Given the description of an element on the screen output the (x, y) to click on. 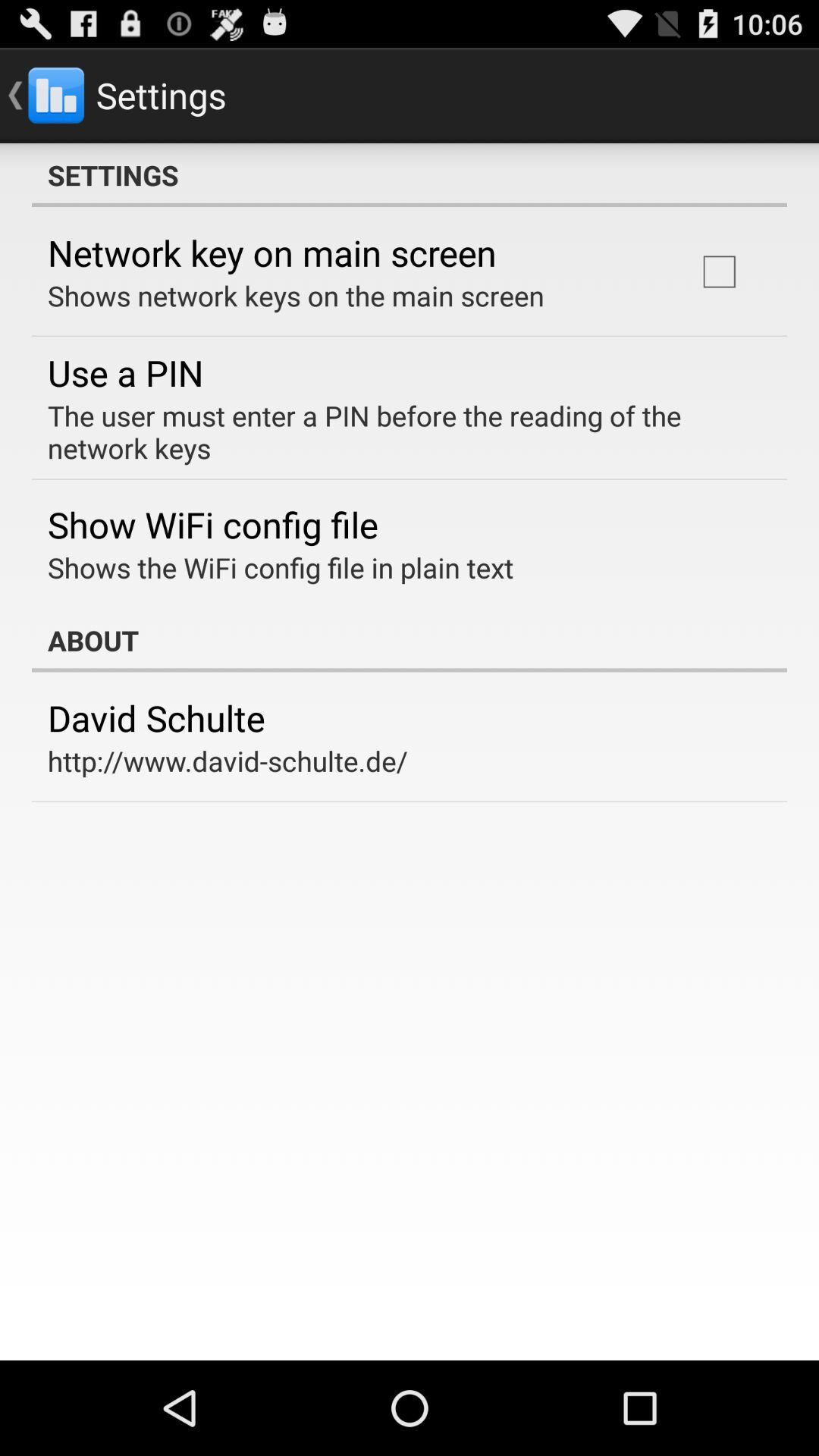
select icon to the right of the shows network keys item (719, 271)
